Given the description of an element on the screen output the (x, y) to click on. 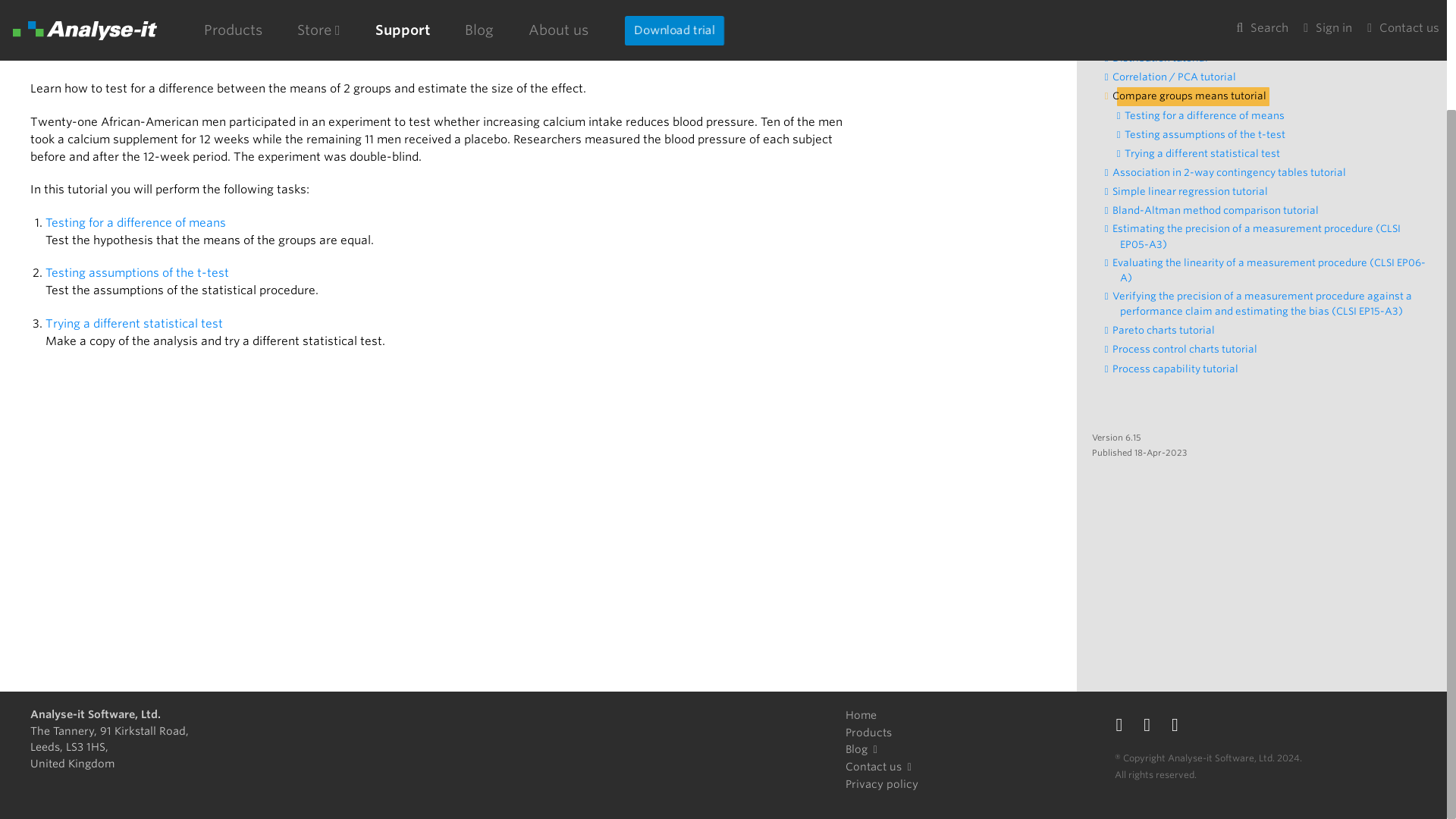
 Bland-Altman method comparison tutorial (1219, 210)
 Association in 2-way contingency tables tutorial (1232, 172)
Testing assumptions of the t-test (137, 272)
 Pareto charts tutorial (1167, 330)
Trying a different statistical test (134, 322)
 Process capability tutorial (1178, 369)
Print this page in a printer-friendly format (1035, 2)
 Testing assumptions of the t-test (1208, 135)
Print   (1035, 2)
 Compare groups means tutorial (1192, 95)
Privacy policy (882, 783)
Testing for a difference of means (135, 222)
 Distribution tutorial (1163, 58)
 Process control charts tutorial (1188, 349)
 Simple linear regression tutorial (1193, 191)
